Given the description of an element on the screen output the (x, y) to click on. 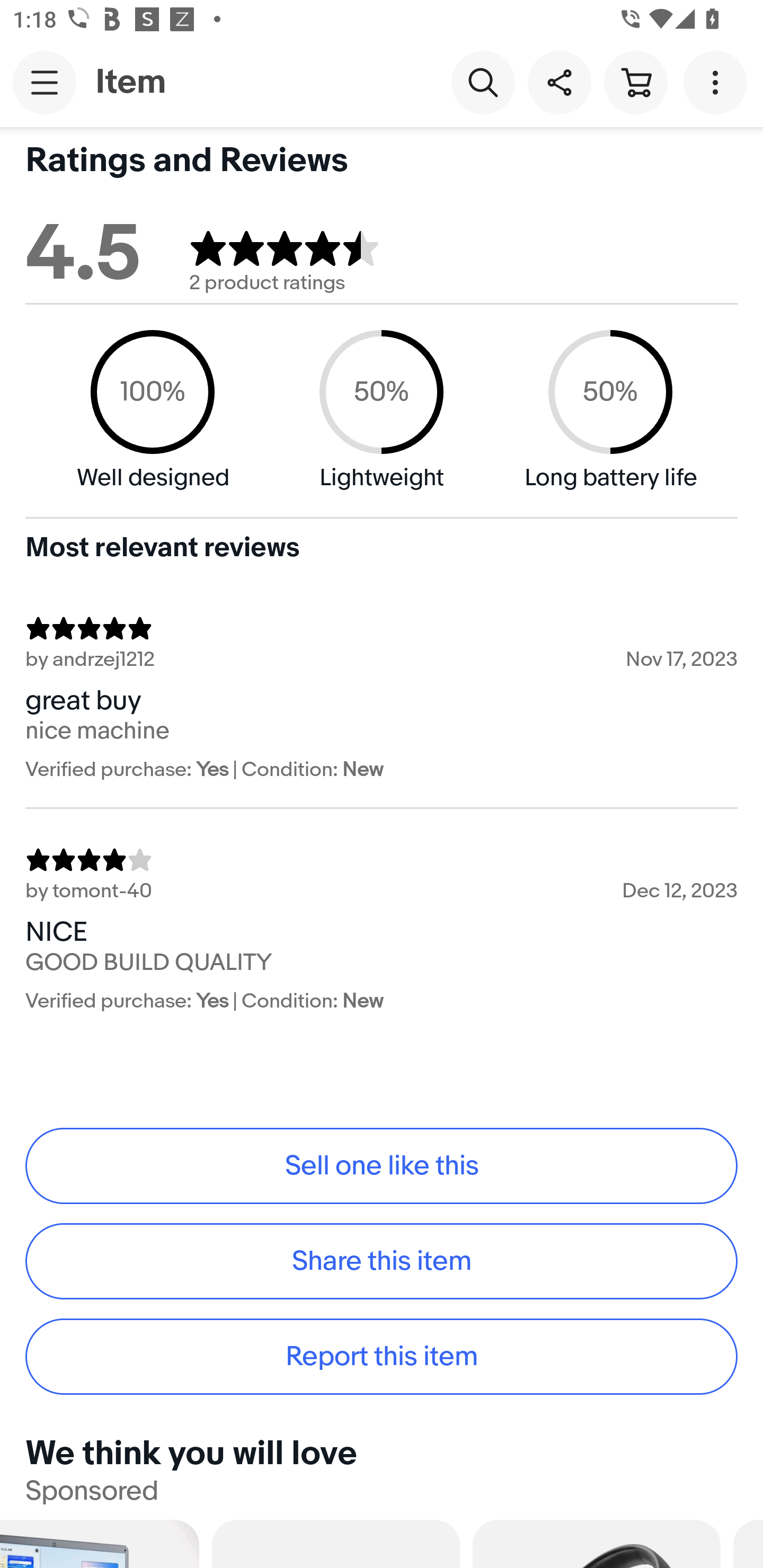
Main navigation, open (44, 82)
Search (482, 81)
Share this item (559, 81)
Cart button shopping cart (635, 81)
More options (718, 81)
Sell one like this (381, 1165)
Share this item (381, 1261)
Report this item (381, 1356)
